Given the description of an element on the screen output the (x, y) to click on. 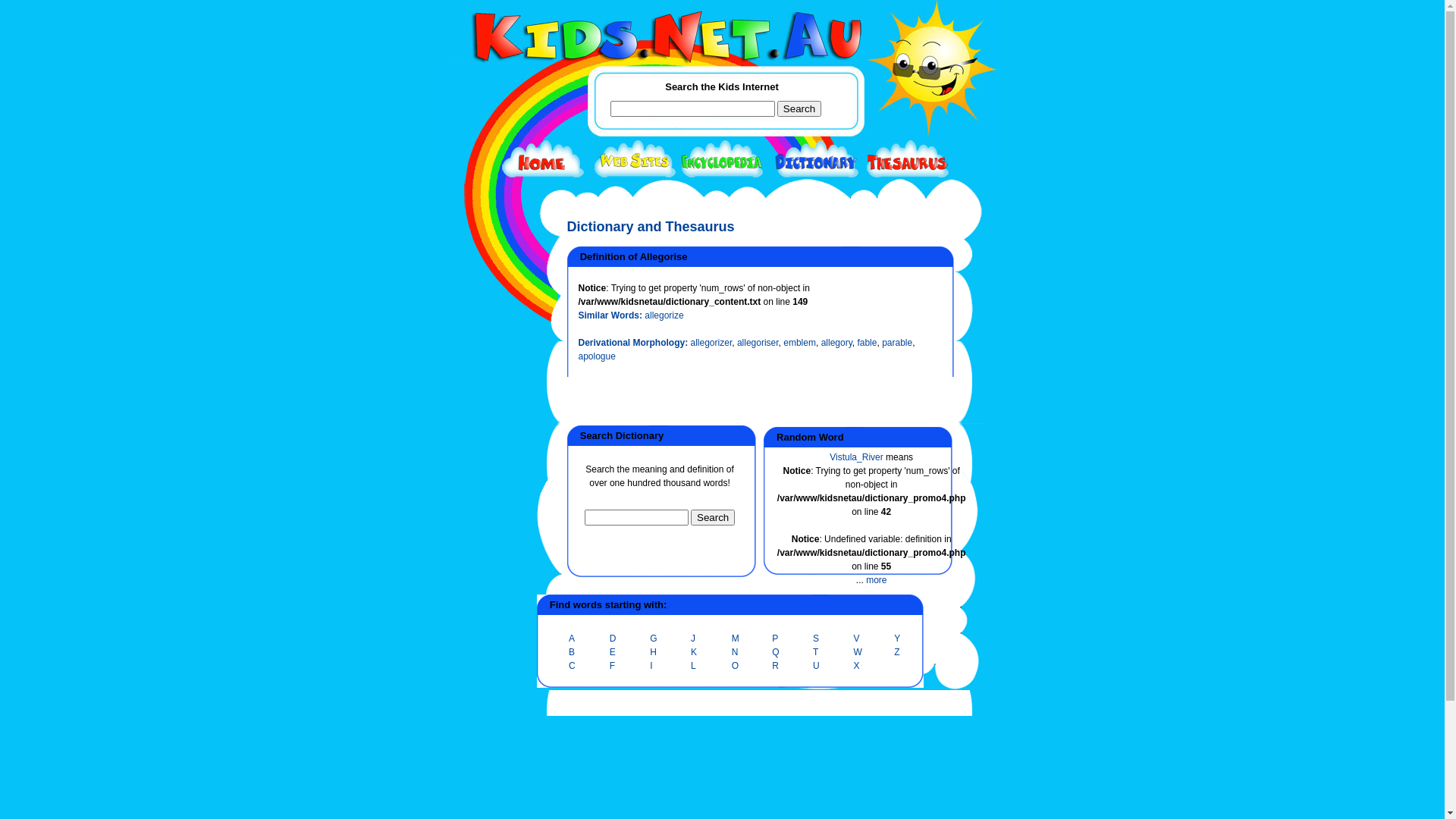
C Element type: text (571, 665)
allegorize Element type: text (663, 315)
X Element type: text (856, 665)
more Element type: text (876, 579)
U Element type: text (815, 665)
E Element type: text (612, 651)
D Element type: text (612, 638)
S Element type: text (815, 638)
P Element type: text (774, 638)
B Element type: text (571, 651)
V Element type: text (856, 638)
H Element type: text (652, 651)
fable Element type: text (866, 342)
parable Element type: text (896, 342)
allegoriser Element type: text (757, 342)
Q Element type: text (774, 651)
R Element type: text (774, 665)
N Element type: text (734, 651)
I Element type: text (650, 665)
apologue Element type: text (596, 356)
L Element type: text (693, 665)
K Element type: text (693, 651)
J Element type: text (692, 638)
Search Element type: text (712, 517)
Vistula_River Element type: text (855, 456)
Z Element type: text (896, 651)
F Element type: text (612, 665)
allegory Element type: text (836, 342)
Y Element type: text (897, 638)
emblem Element type: text (799, 342)
O Element type: text (734, 665)
G Element type: text (652, 638)
T Element type: text (815, 651)
M Element type: text (735, 638)
allegorizer Element type: text (711, 342)
Search Element type: text (799, 108)
W Element type: text (857, 651)
A Element type: text (571, 638)
Advertisement Element type: hover (483, 554)
